Given the description of an element on the screen output the (x, y) to click on. 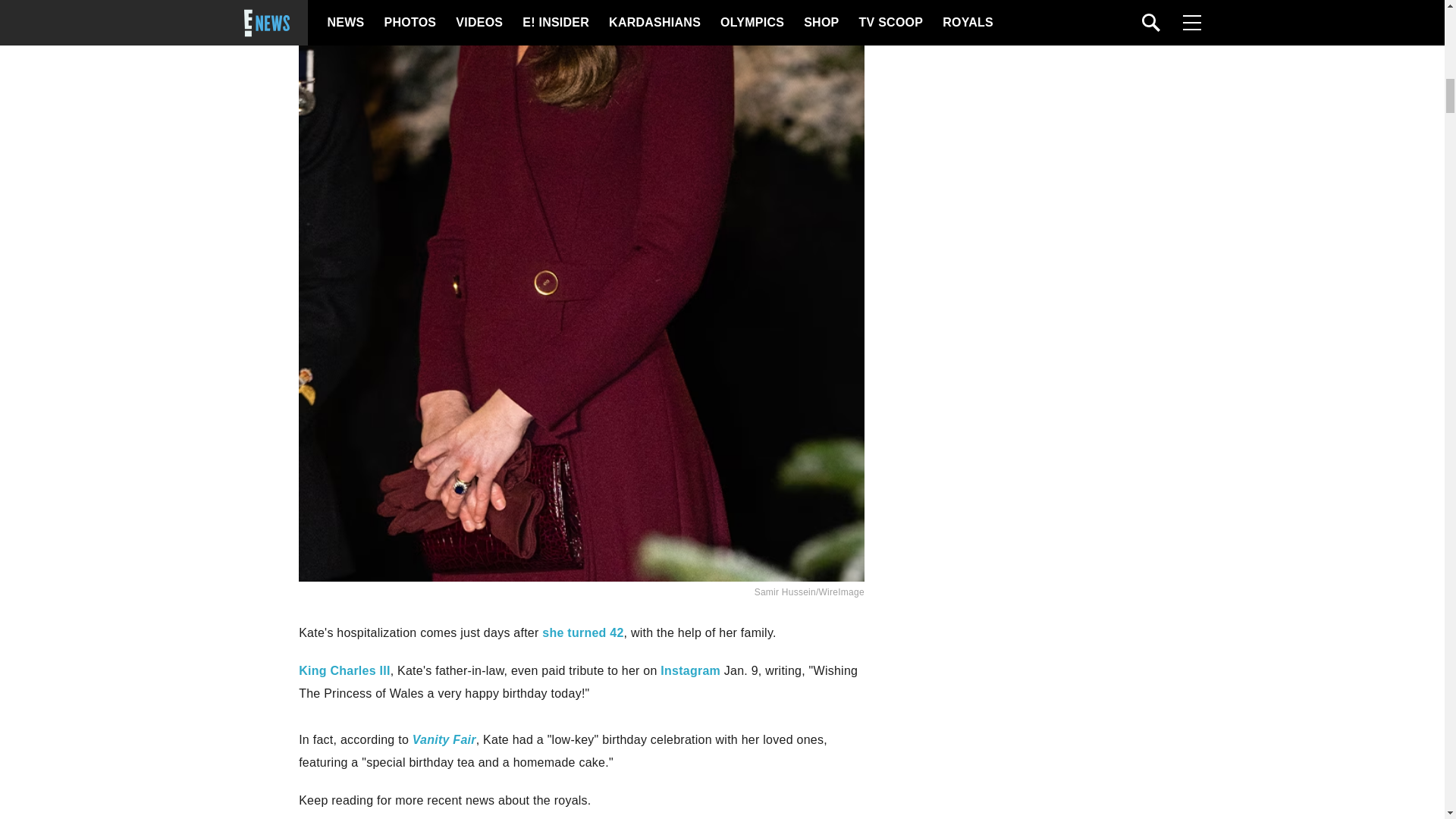
Instagram (690, 670)
Vanity Fair (444, 739)
King Charles III (344, 670)
she turned 42 (582, 632)
